Given the description of an element on the screen output the (x, y) to click on. 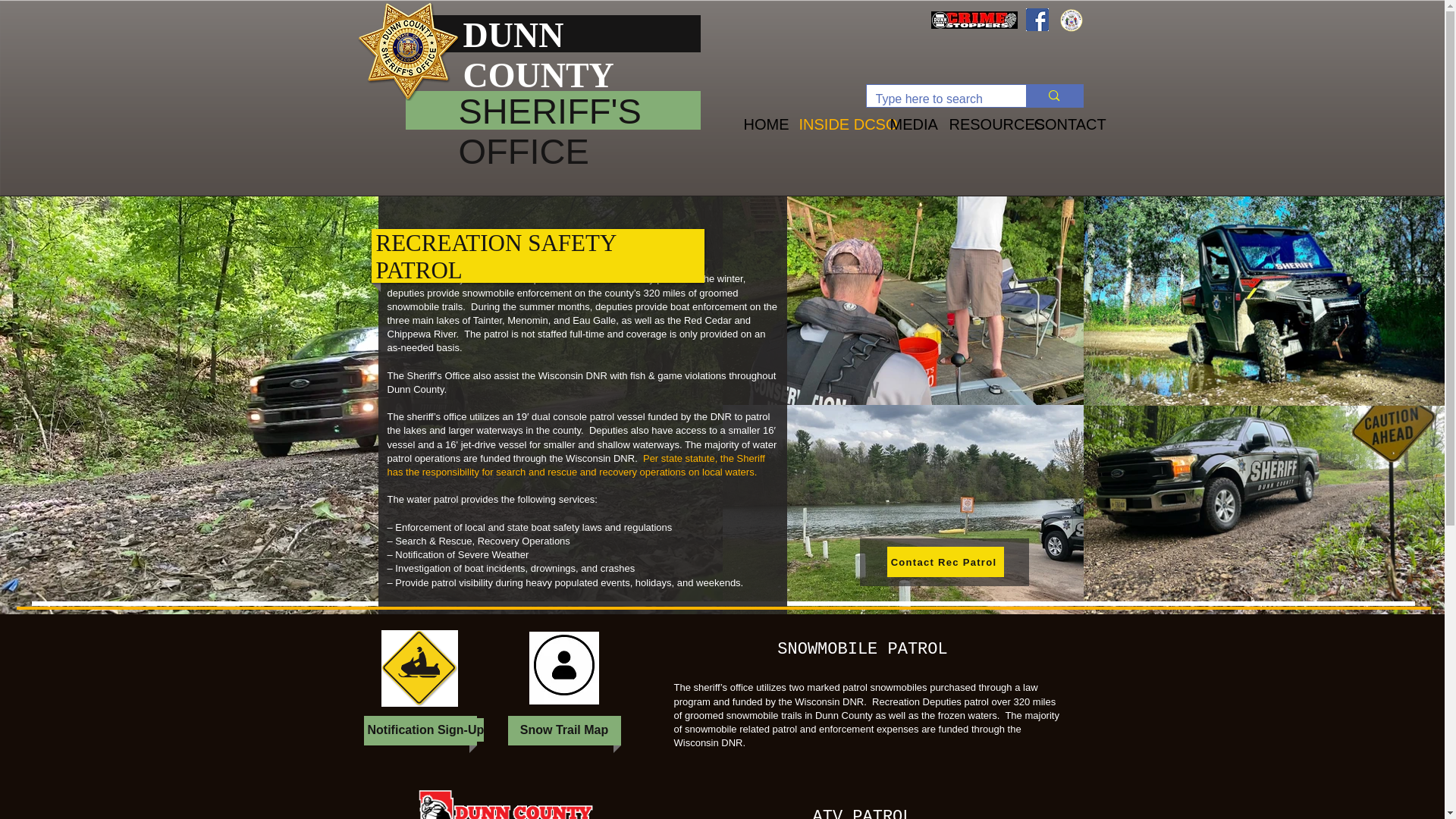
RESOURCES (979, 124)
Notification Sign-Up (424, 730)
HOME (759, 124)
MEDIA (907, 124)
Snow Trail Map (563, 730)
INSIDE DCSO (832, 124)
CONTACT (1057, 124)
Contact Rec Patrol (945, 562)
